Given the description of an element on the screen output the (x, y) to click on. 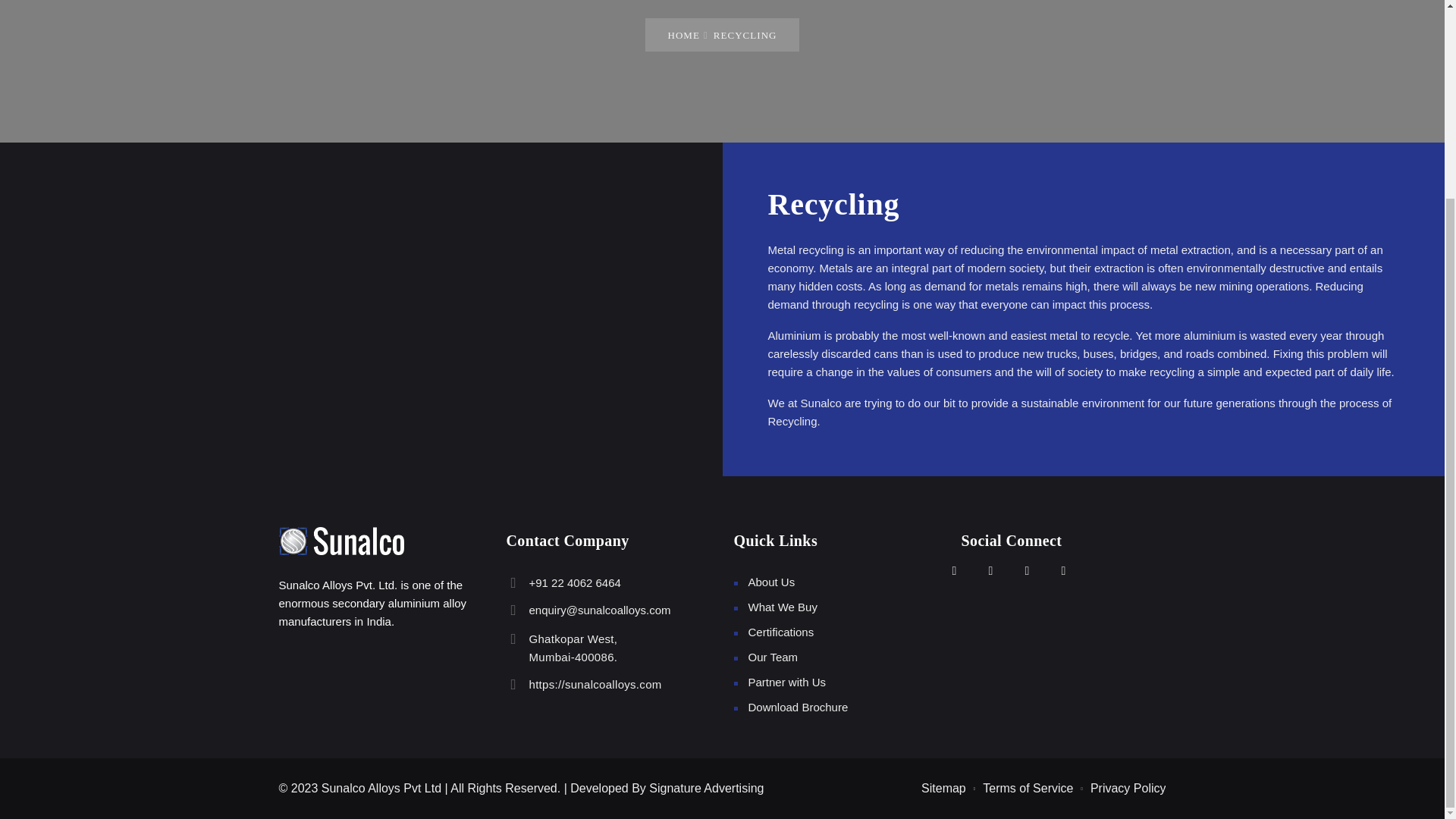
Partner with Us (786, 682)
About Us (771, 581)
What We Buy (573, 647)
Certifications (782, 607)
HOME (780, 632)
Download Brochure (682, 35)
Our Team (797, 707)
